Given the description of an element on the screen output the (x, y) to click on. 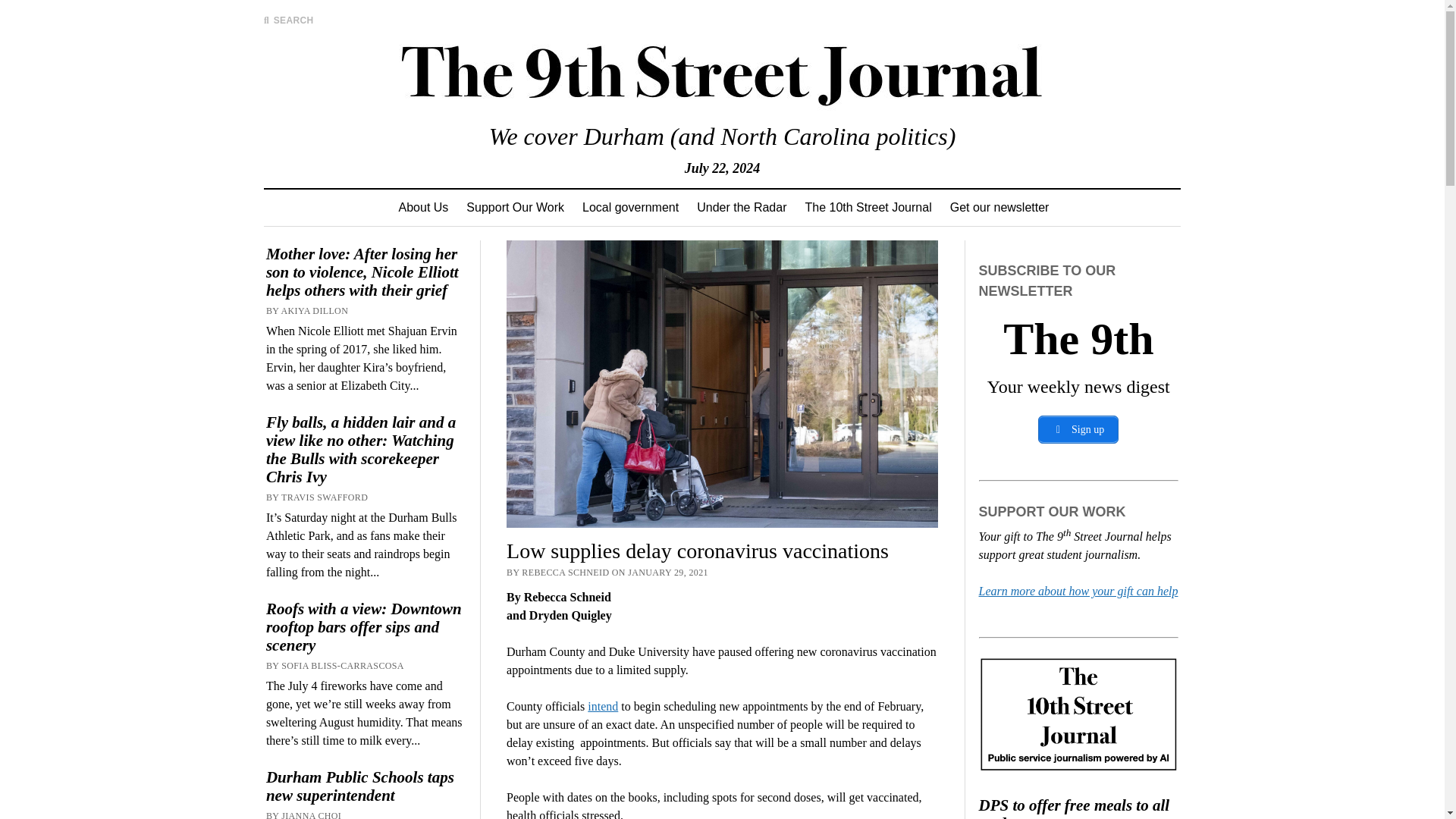
intend (602, 706)
SEARCH (288, 20)
Get our newsletter (999, 207)
Local government (630, 207)
Search (945, 129)
Durham Public Schools taps new superintendent (365, 786)
The 10th Street Journal (867, 207)
Support Our Work (515, 207)
Under the Radar (740, 207)
About Us (424, 207)
